Given the description of an element on the screen output the (x, y) to click on. 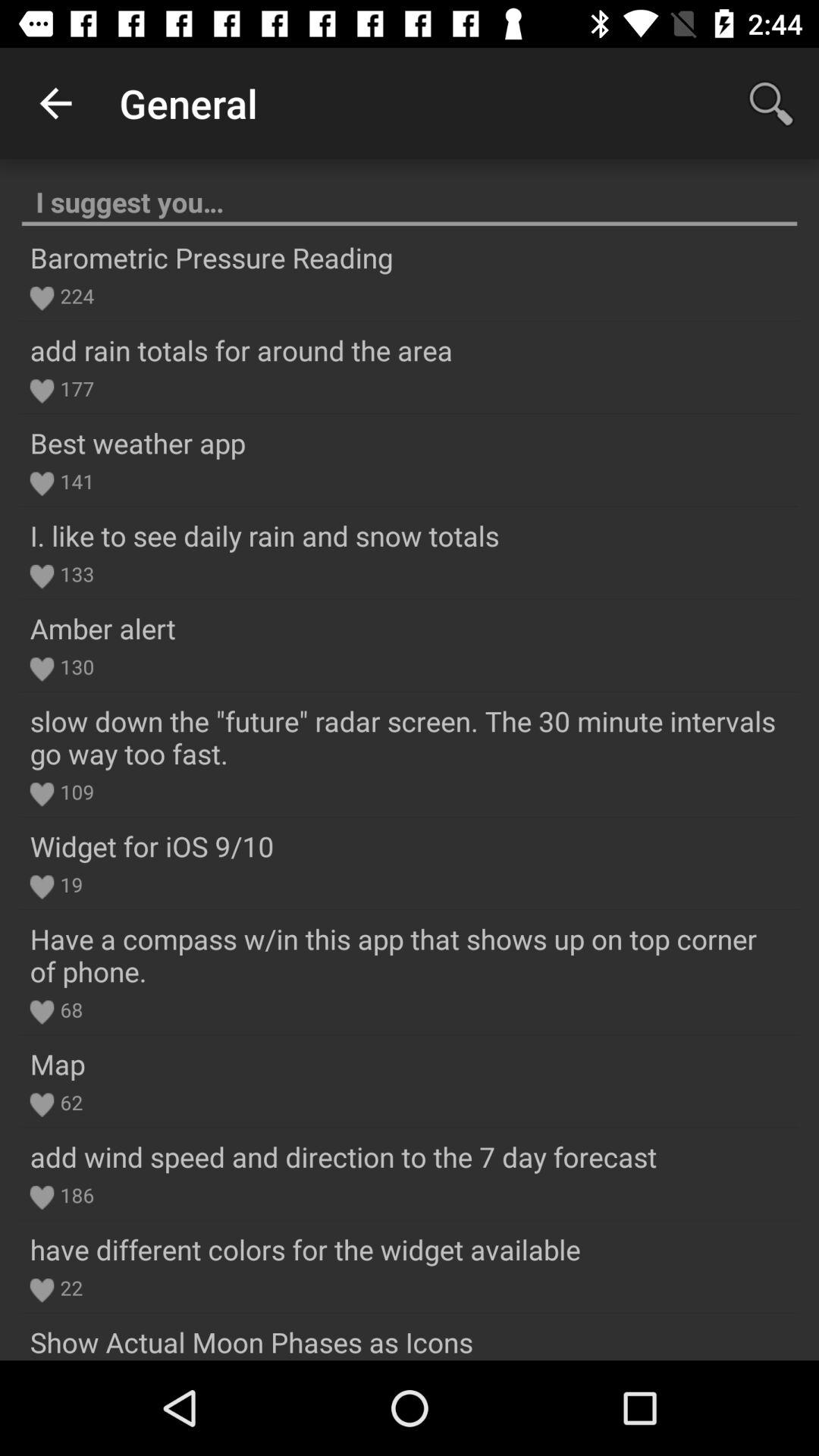
turn on the icon to the left of 19 icon (42, 887)
